Given the description of an element on the screen output the (x, y) to click on. 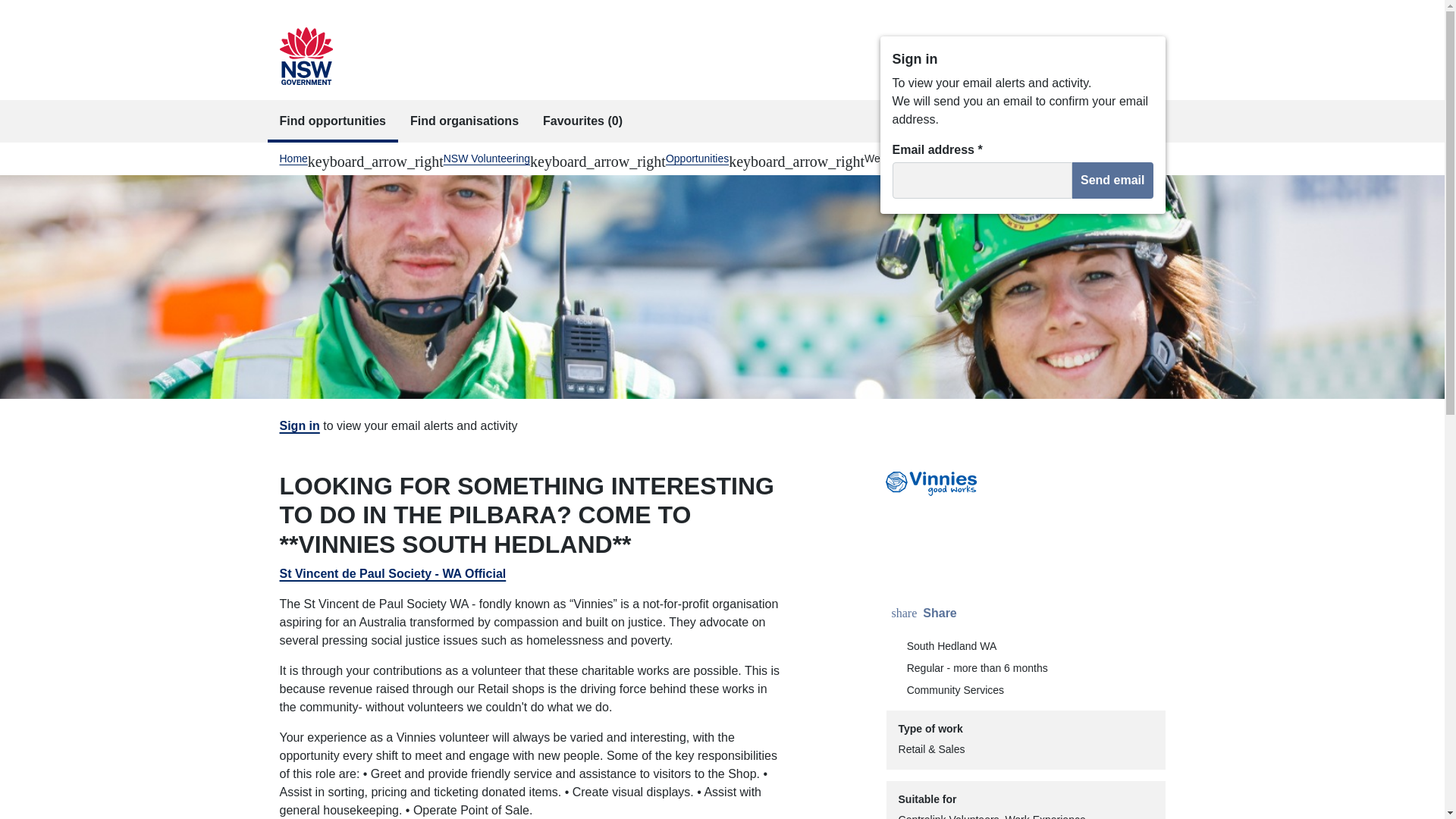
Find organisations (464, 120)
NSW Volunteering (486, 158)
St Vincent de Paul Society - WA Official (392, 573)
Find opportunities (331, 120)
Opportunities (697, 158)
Sign in (298, 425)
Send email (925, 613)
NSW Government (1112, 180)
Home (305, 56)
